Given the description of an element on the screen output the (x, y) to click on. 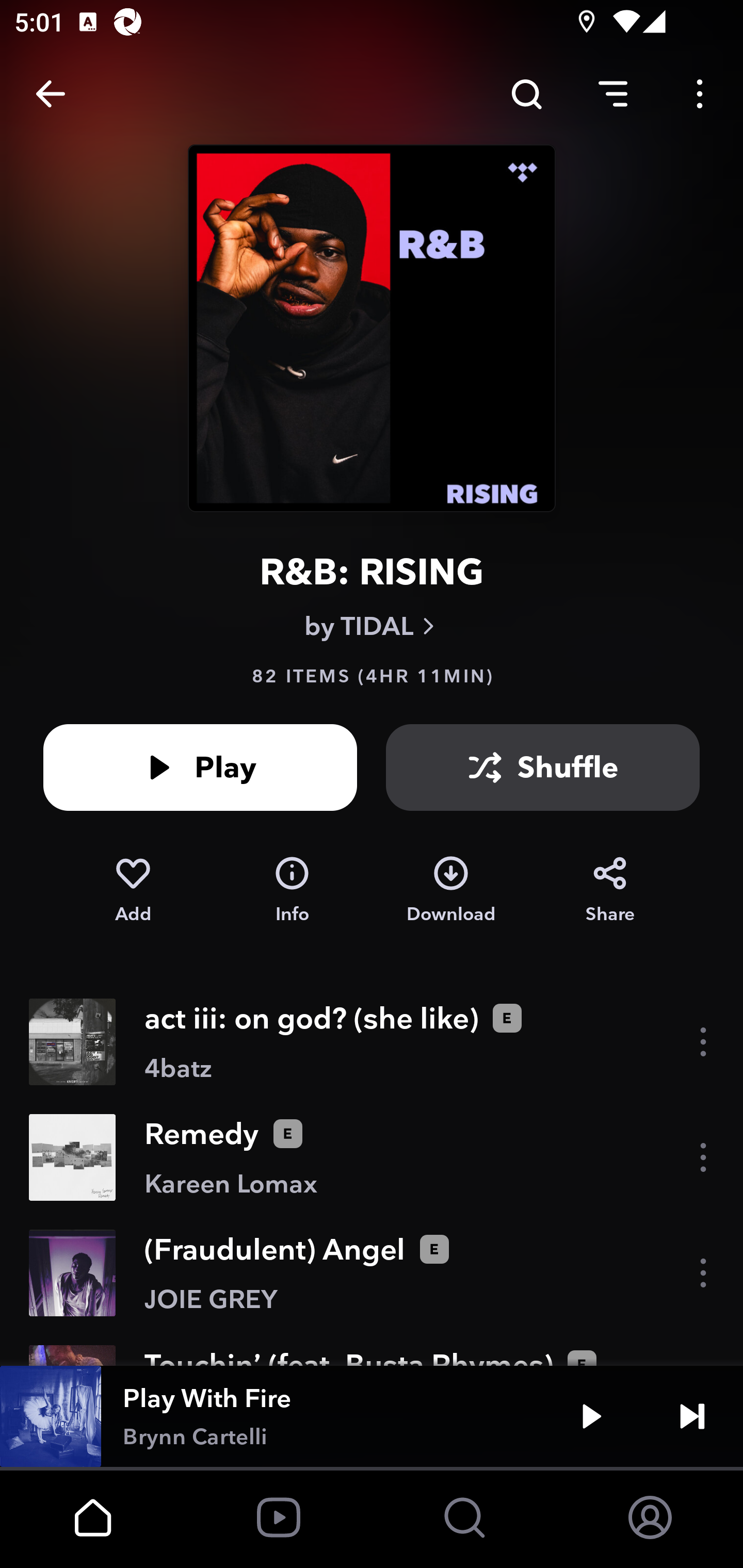
Back (50, 93)
Search (525, 93)
Sorting (612, 93)
Options (699, 93)
by TIDAL (371, 625)
Play (200, 767)
Shuffle (542, 767)
Add (132, 890)
Info (291, 890)
Download (450, 890)
Share (609, 890)
act iii: on god? (she like) 4batz (371, 1041)
Remedy Kareen Lomax (371, 1157)
(Fraudulent) Angel JOIE GREY (371, 1273)
Play With Fire Brynn Cartelli Play (371, 1416)
Play (590, 1416)
